Given the description of an element on the screen output the (x, y) to click on. 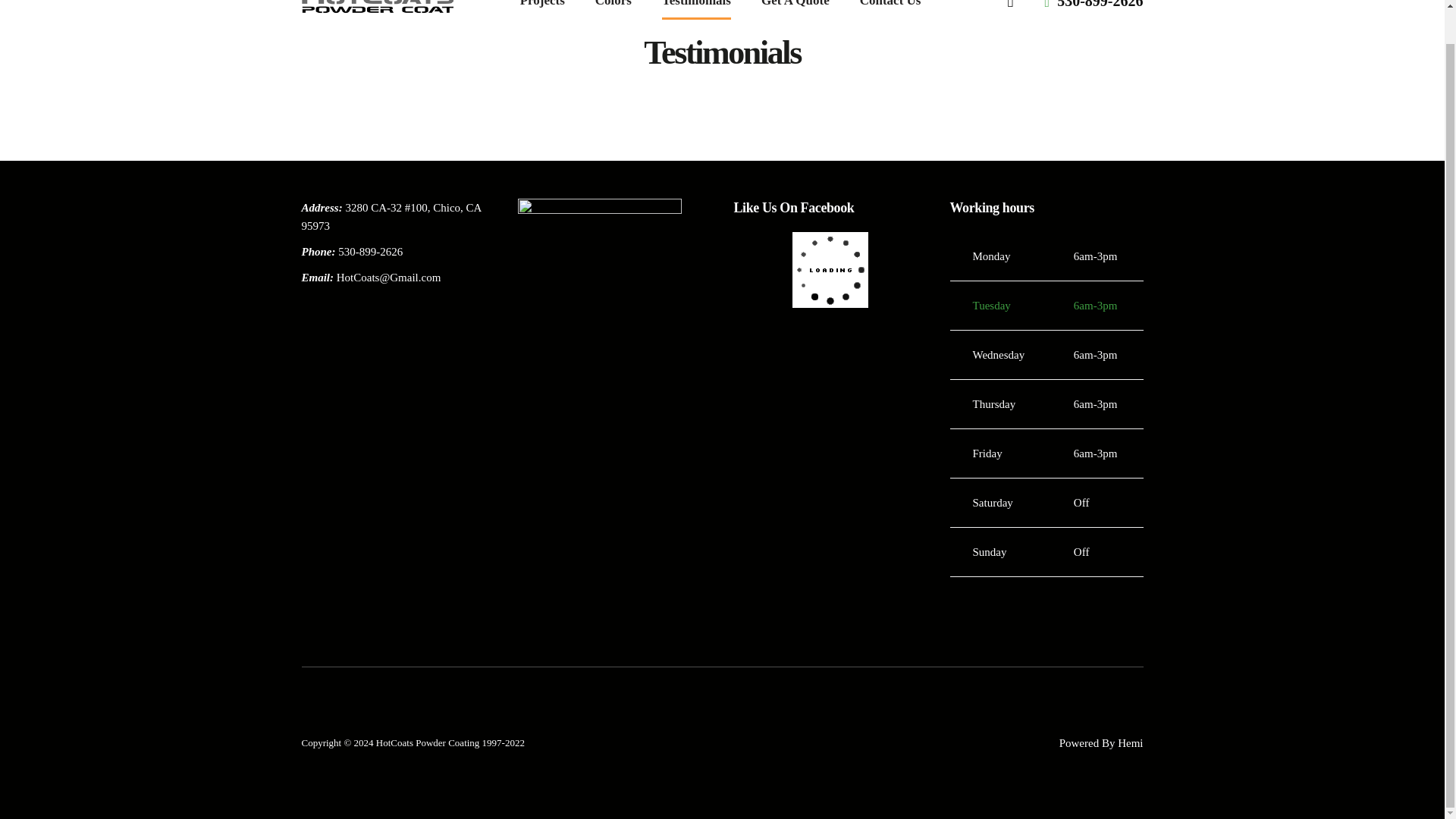
Contact Us (890, 5)
Projects (542, 5)
Colors (612, 5)
Get A Quote (794, 5)
Testimonials (695, 5)
